Given the description of an element on the screen output the (x, y) to click on. 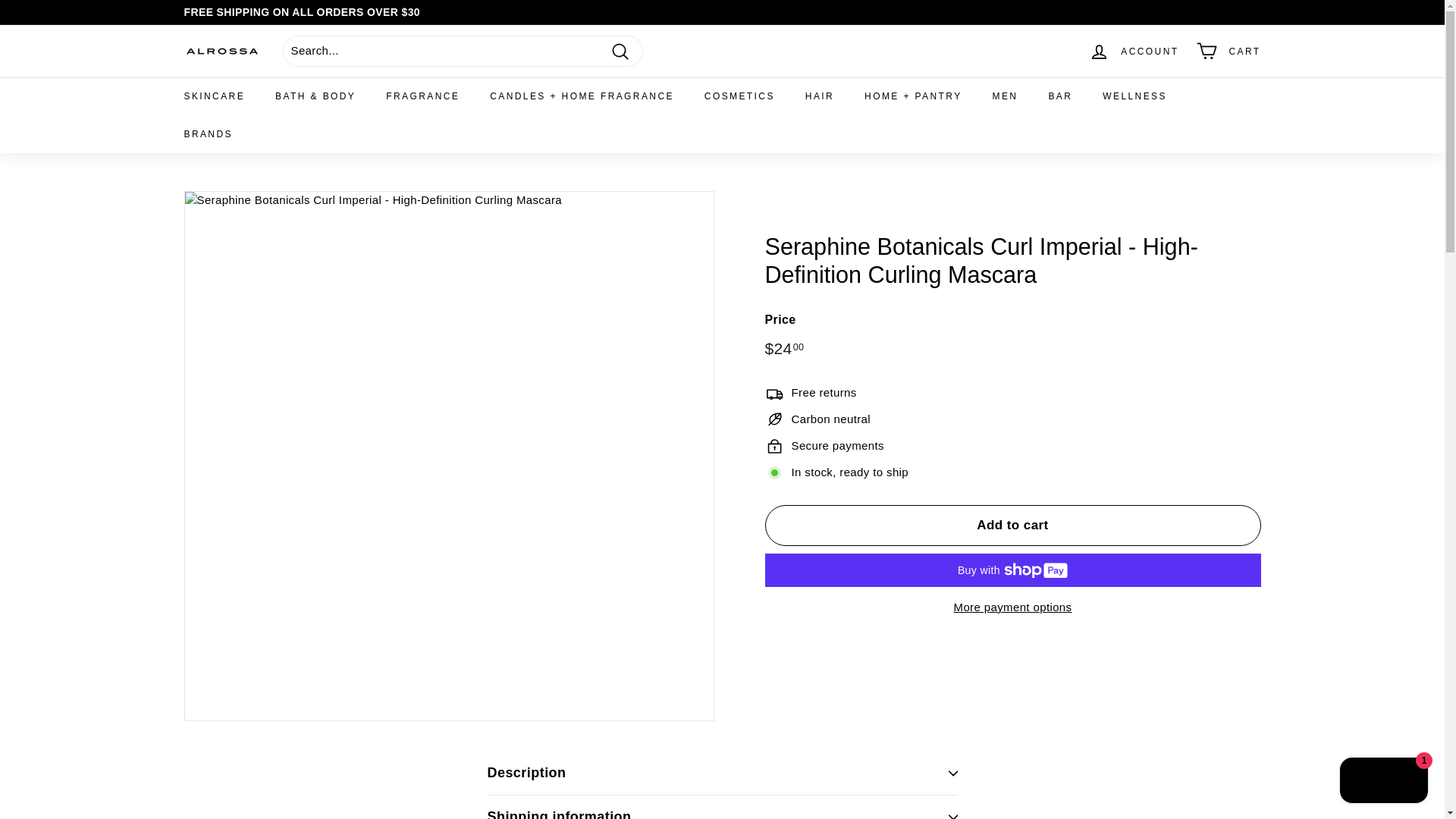
ACCOUNT (1134, 50)
FRAGRANCE (422, 95)
SKINCARE (214, 95)
